Given the description of an element on the screen output the (x, y) to click on. 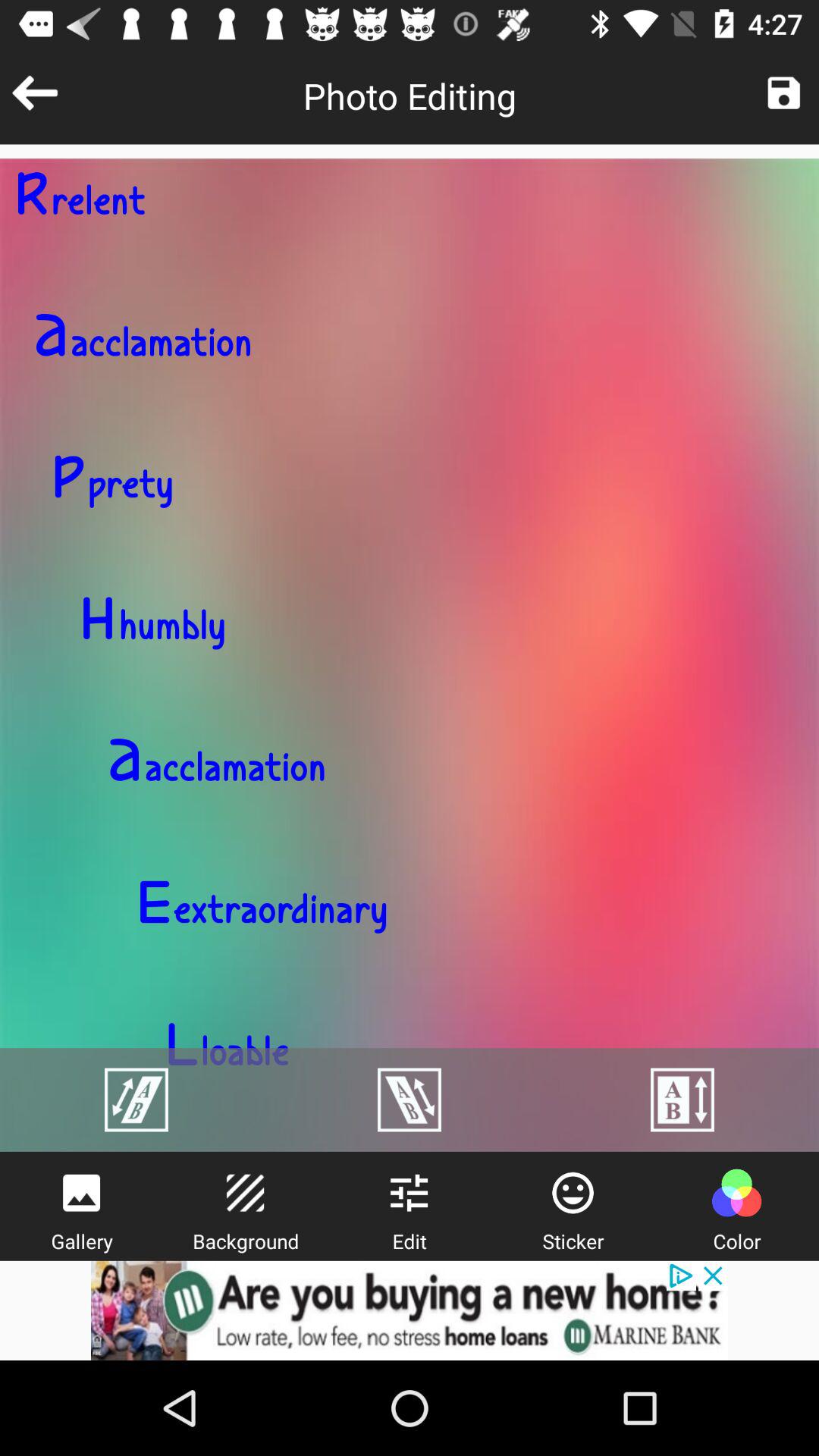
realign text positioning (136, 1099)
